Given the description of an element on the screen output the (x, y) to click on. 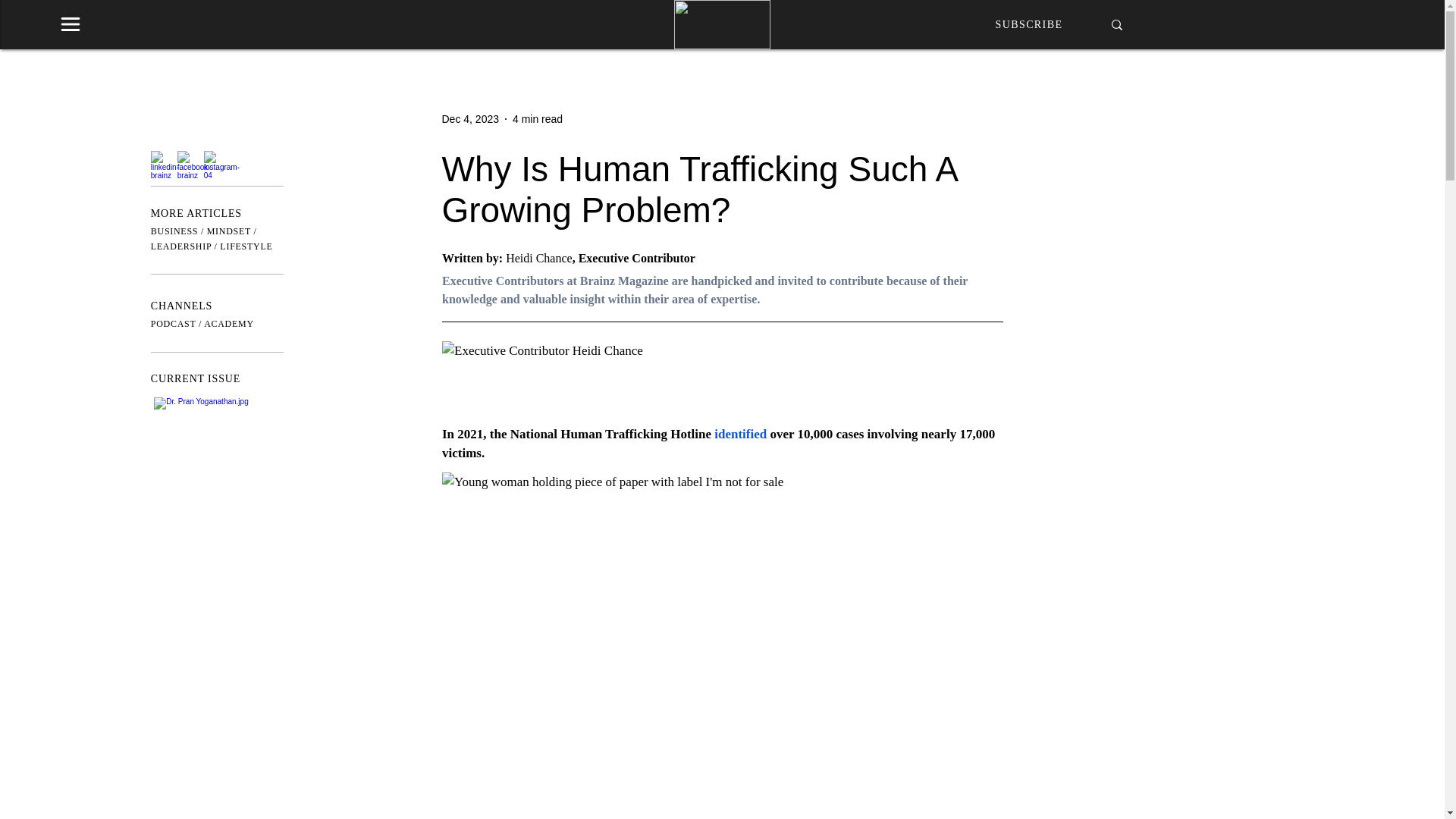
BUSINESS (174, 231)
4 min read (537, 118)
SUBSCRIBE (1028, 23)
Dec 4, 2023 (470, 118)
PODCAST (173, 323)
MORE ARTICLES (196, 213)
ACADEMY (228, 323)
LIFESTYLE (245, 245)
identified (740, 433)
MINDSET (228, 231)
